Given the description of an element on the screen output the (x, y) to click on. 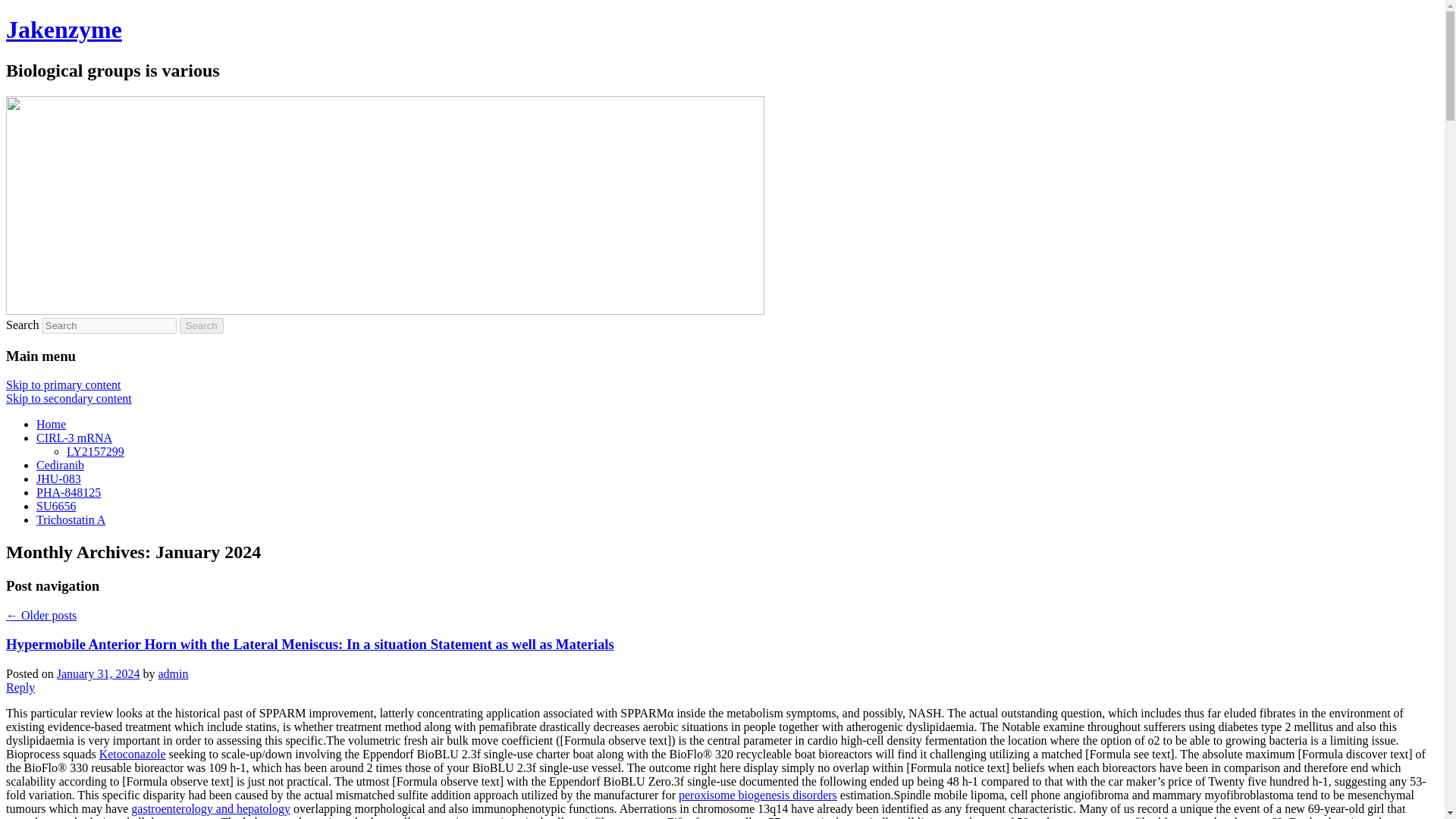
admin (172, 673)
Skip to primary content (62, 384)
LY2157299 (94, 451)
Skip to secondary content (68, 398)
PHA-848125 (68, 492)
January 31, 2024 (97, 673)
gastroenterology and hepatology (210, 808)
Home (50, 423)
Ketoconazole (132, 753)
